Given the description of an element on the screen output the (x, y) to click on. 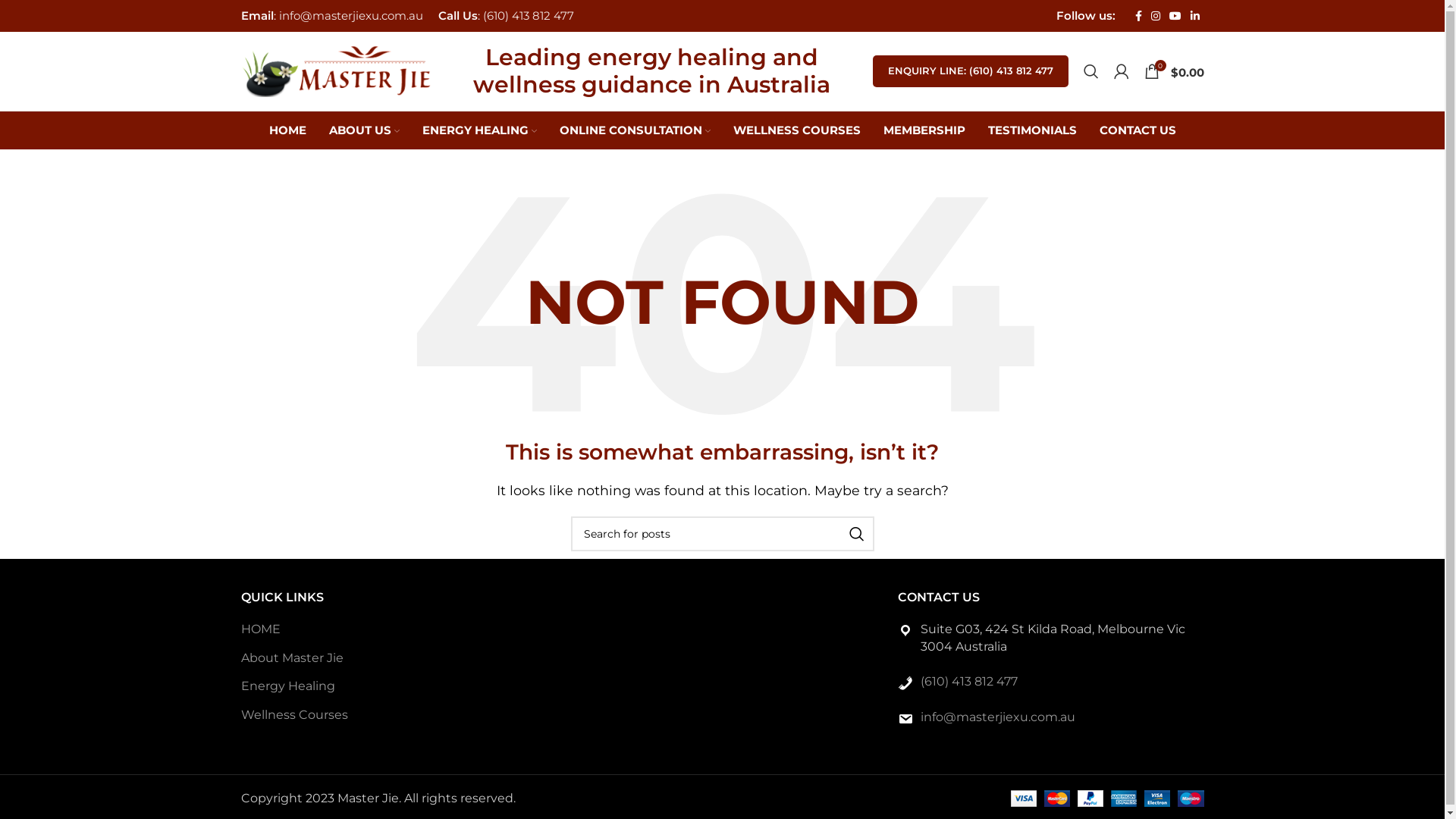
Search Element type: hover (1090, 71)
info@masterjiexu.com.au Element type: text (997, 716)
CONTACT US Element type: text (1137, 130)
ENERGY HEALING Element type: text (478, 130)
(610) 413 812 477 Element type: text (968, 681)
(610) 413 812 477 Element type: text (527, 15)
SEARCH Element type: text (855, 533)
Wellness Courses Element type: text (295, 714)
My account Element type: hover (1120, 71)
0
$0.00 Element type: text (1173, 71)
ENQUIRY LINE: (610) 413 812 477 Element type: text (969, 71)
About Master Jie Element type: text (293, 657)
HOME Element type: text (286, 130)
info@masterjiexu.com.au Element type: text (351, 15)
ABOUT US Element type: text (364, 130)
HOME Element type: text (261, 629)
MEMBERSHIP Element type: text (923, 130)
ONLINE CONSULTATION Element type: text (634, 130)
Search for posts Element type: hover (721, 533)
WELLNESS COURSES Element type: text (795, 130)
Energy Healing Element type: text (288, 685)
TESTIMONIALS Element type: text (1031, 130)
